Given the description of an element on the screen output the (x, y) to click on. 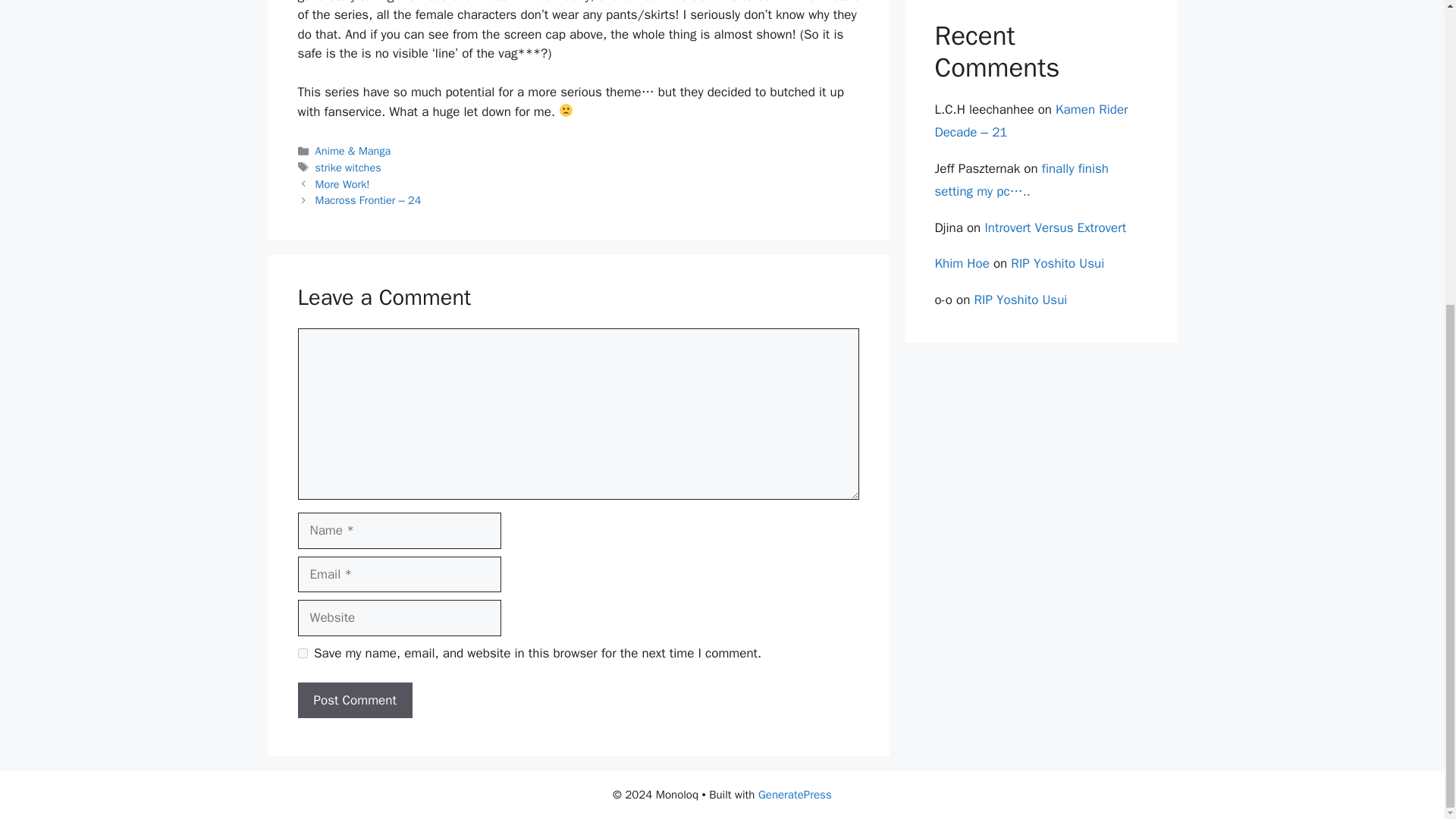
Khim Hoe (961, 263)
RIP Yoshito Usui (1020, 299)
More Work! (342, 183)
Post Comment (354, 700)
Post Comment (354, 700)
strike witches (348, 167)
yes (302, 653)
Introvert Versus Extrovert (1054, 227)
GeneratePress (794, 794)
RIP Yoshito Usui (1056, 263)
